Given the description of an element on the screen output the (x, y) to click on. 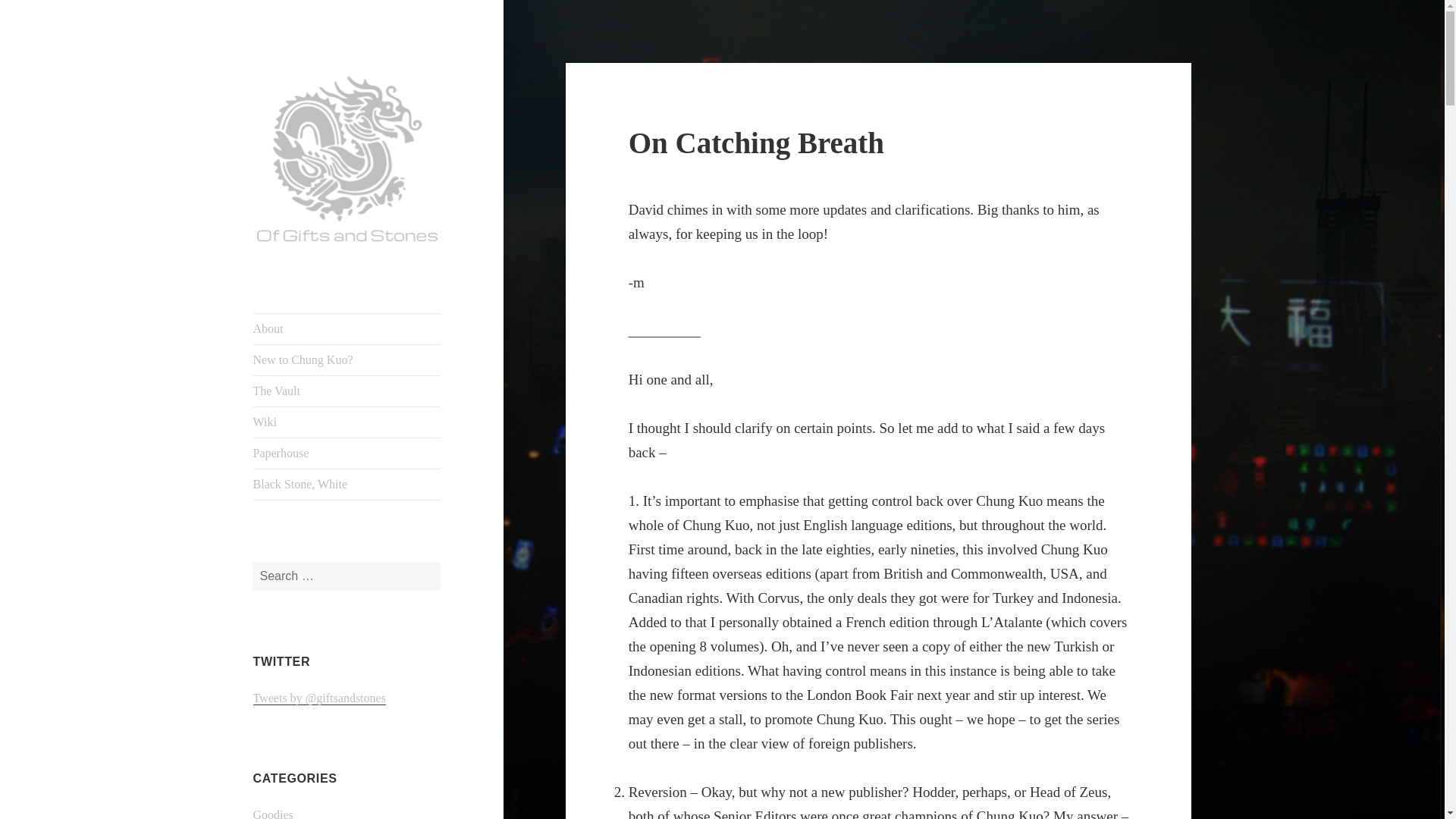
About (347, 328)
The Vault (347, 390)
Wiki (347, 422)
Of Gifts and Stones (312, 286)
New to Chung Kuo? (347, 359)
Black Stone, White (347, 484)
Goodies (273, 813)
Paperhouse (347, 453)
